Given the description of an element on the screen output the (x, y) to click on. 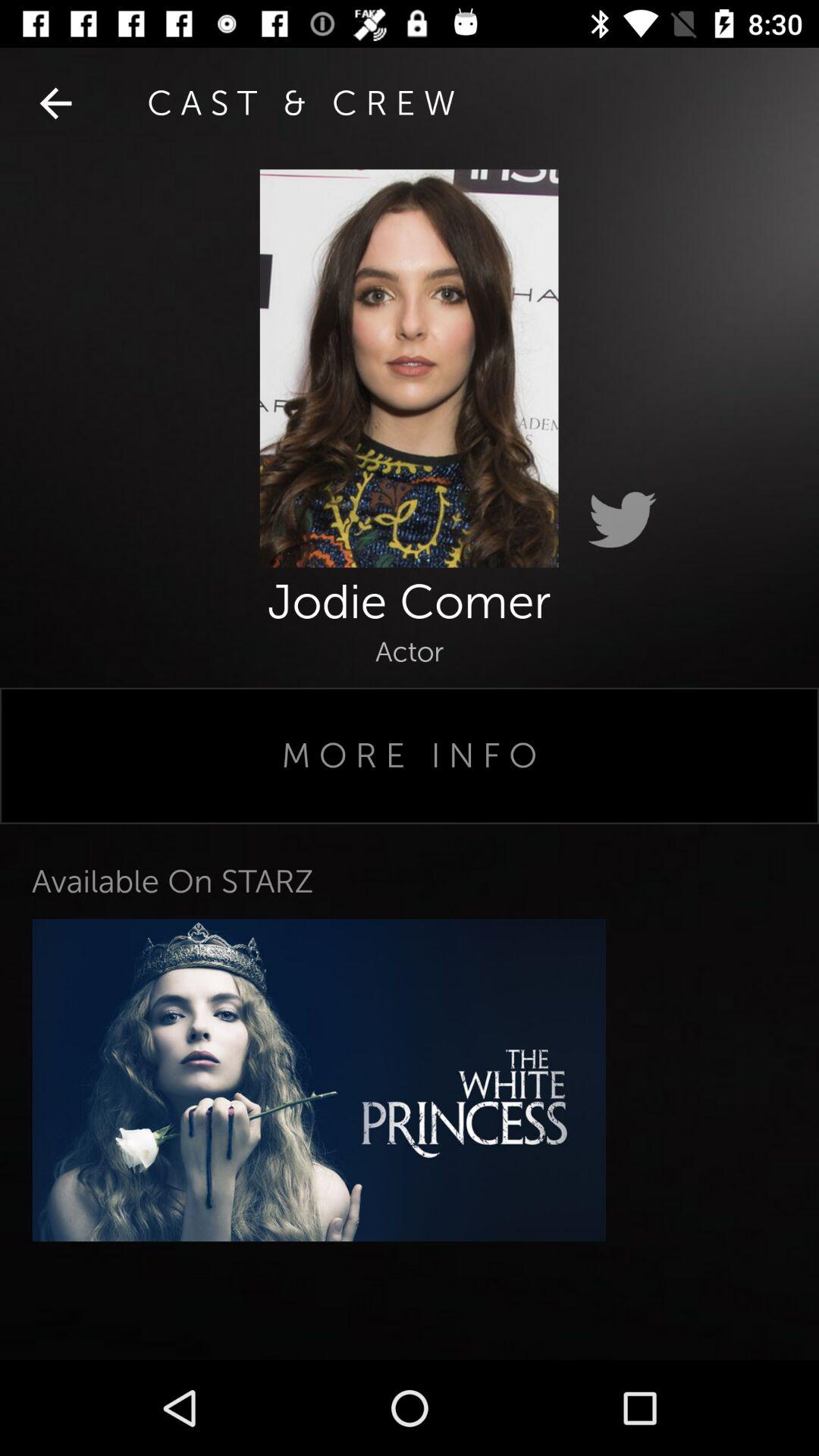
tap item next to cast & crew (55, 103)
